Given the description of an element on the screen output the (x, y) to click on. 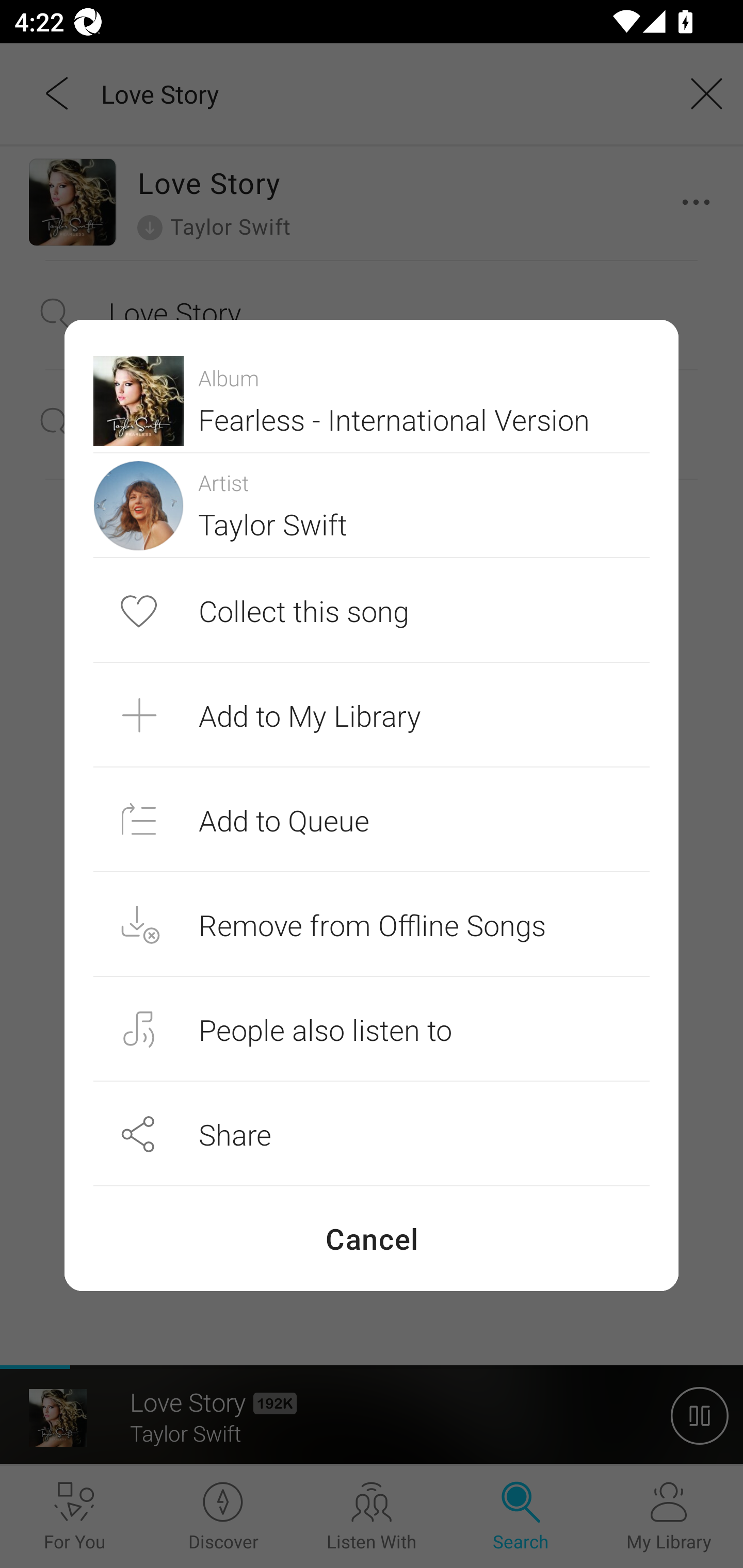
Album Fearless - International Version (371, 400)
Artist Taylor Swift (371, 505)
Collect this song (371, 610)
Add to My Library (371, 714)
Add to Queue (371, 818)
Remove from Offline Songs (371, 923)
People also listen to (371, 1028)
Share (371, 1133)
Cancel (371, 1238)
